Given the description of an element on the screen output the (x, y) to click on. 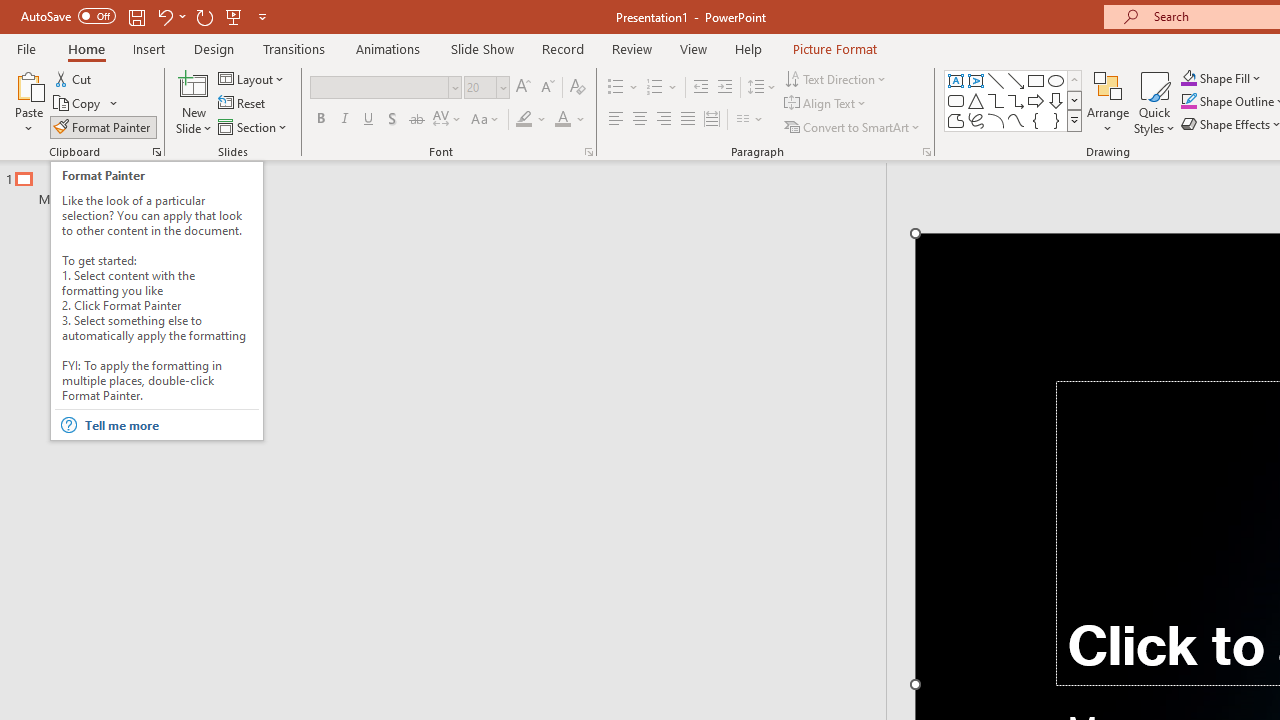
Cut (73, 78)
Strikethrough (416, 119)
AutomationID: ShapesInsertGallery (1014, 100)
Bold (320, 119)
Increase Indent (725, 87)
Decrease Indent (700, 87)
Layout (252, 78)
